Given the description of an element on the screen output the (x, y) to click on. 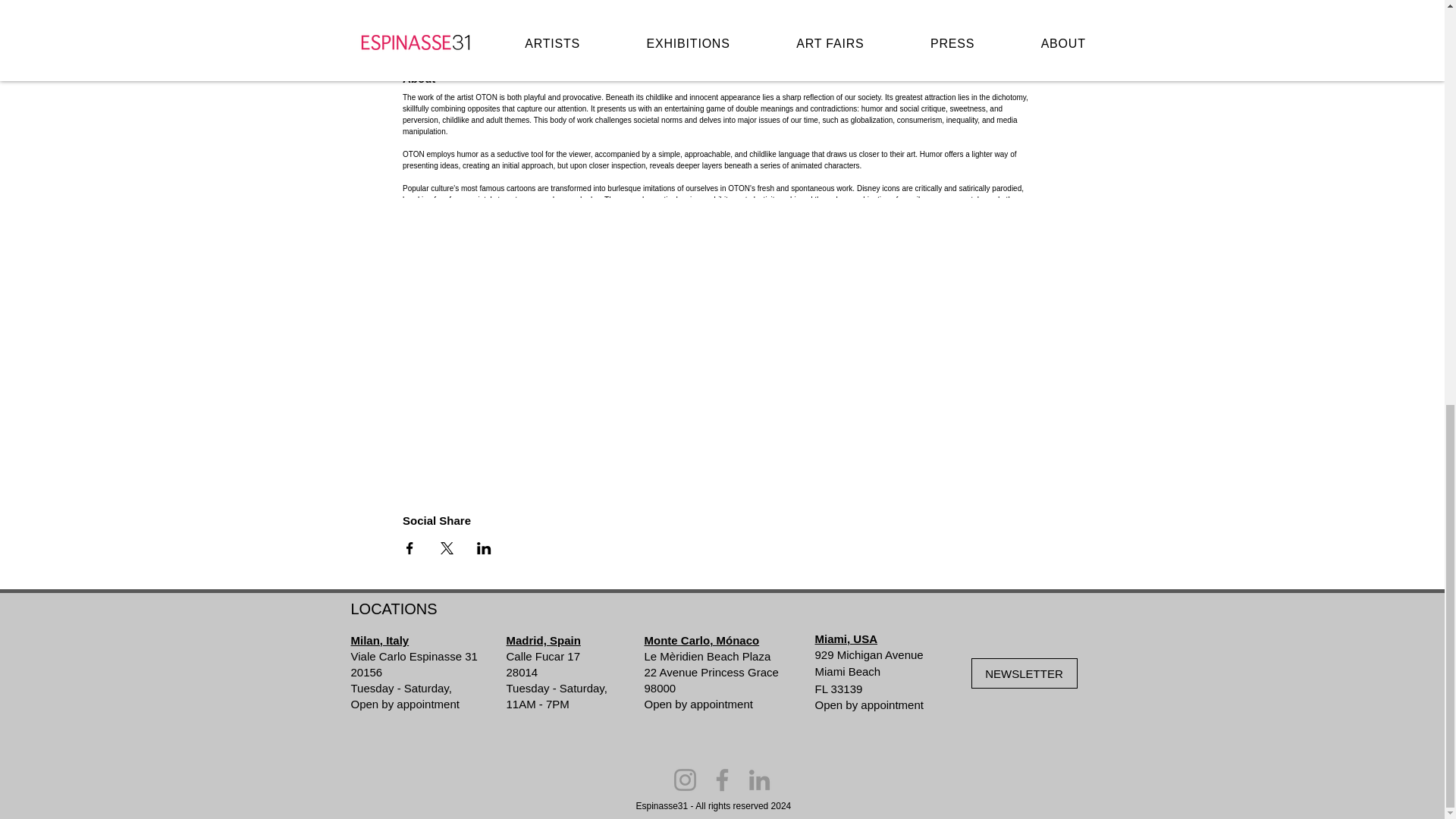
Miami, USA (845, 638)
Madrid, Spain (543, 640)
NEWSLETTER (1024, 673)
Calle Fucar 17 (543, 656)
Milan, Italy (379, 640)
